Given the description of an element on the screen output the (x, y) to click on. 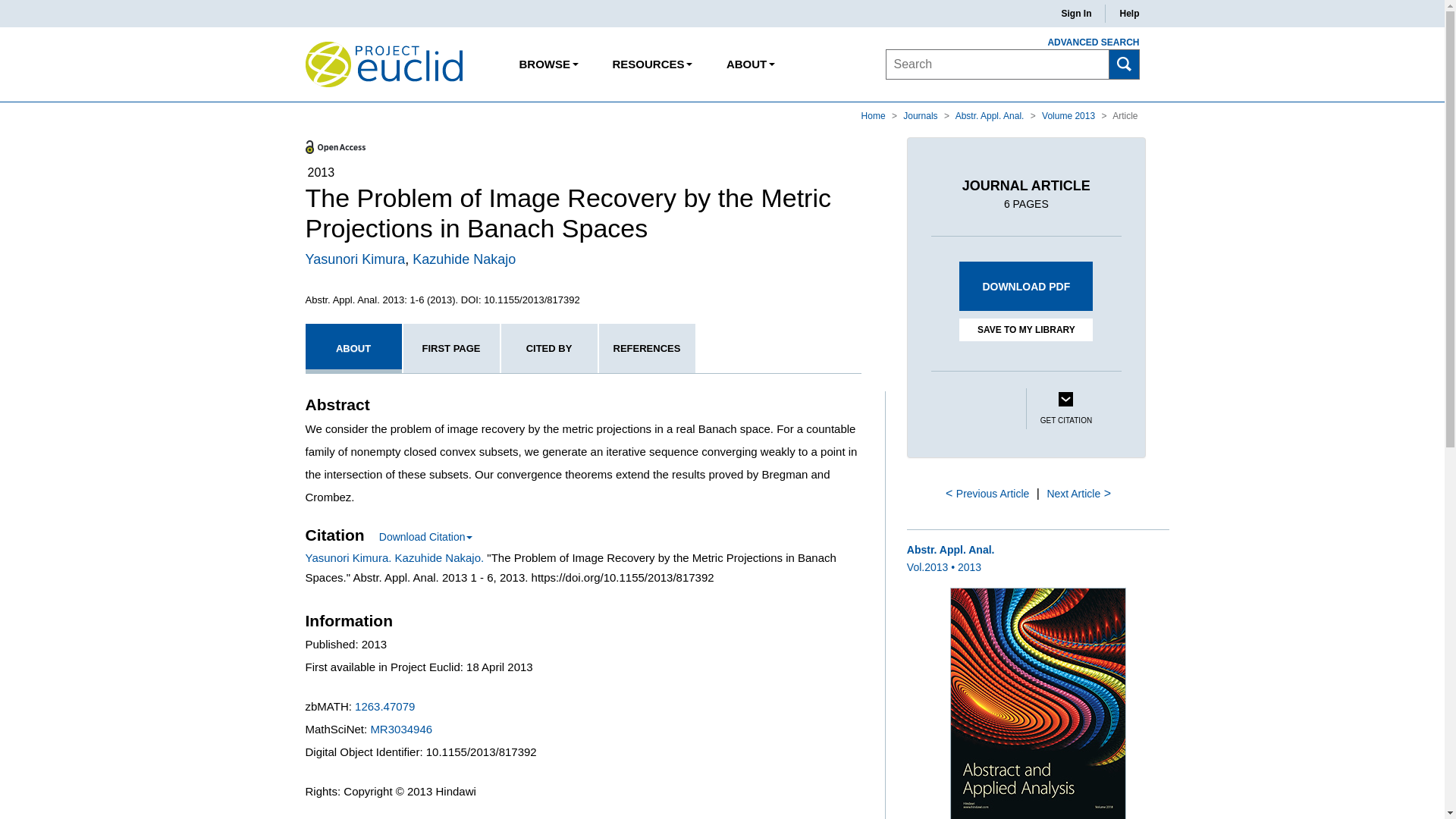
Journals (921, 115)
Journals (921, 115)
BROWSE (549, 64)
ADVANCED SEARCH (1084, 42)
Home (874, 115)
Browse (549, 64)
ABOUT (750, 64)
Abstr. Appl. Anal. (990, 115)
Abstr. Appl. Anal. (990, 115)
Home (874, 115)
CITED BY (548, 348)
Volume 2013 (1069, 115)
About (750, 64)
Subscriptions and Access (651, 64)
ABOUT (352, 348)
